Given the description of an element on the screen output the (x, y) to click on. 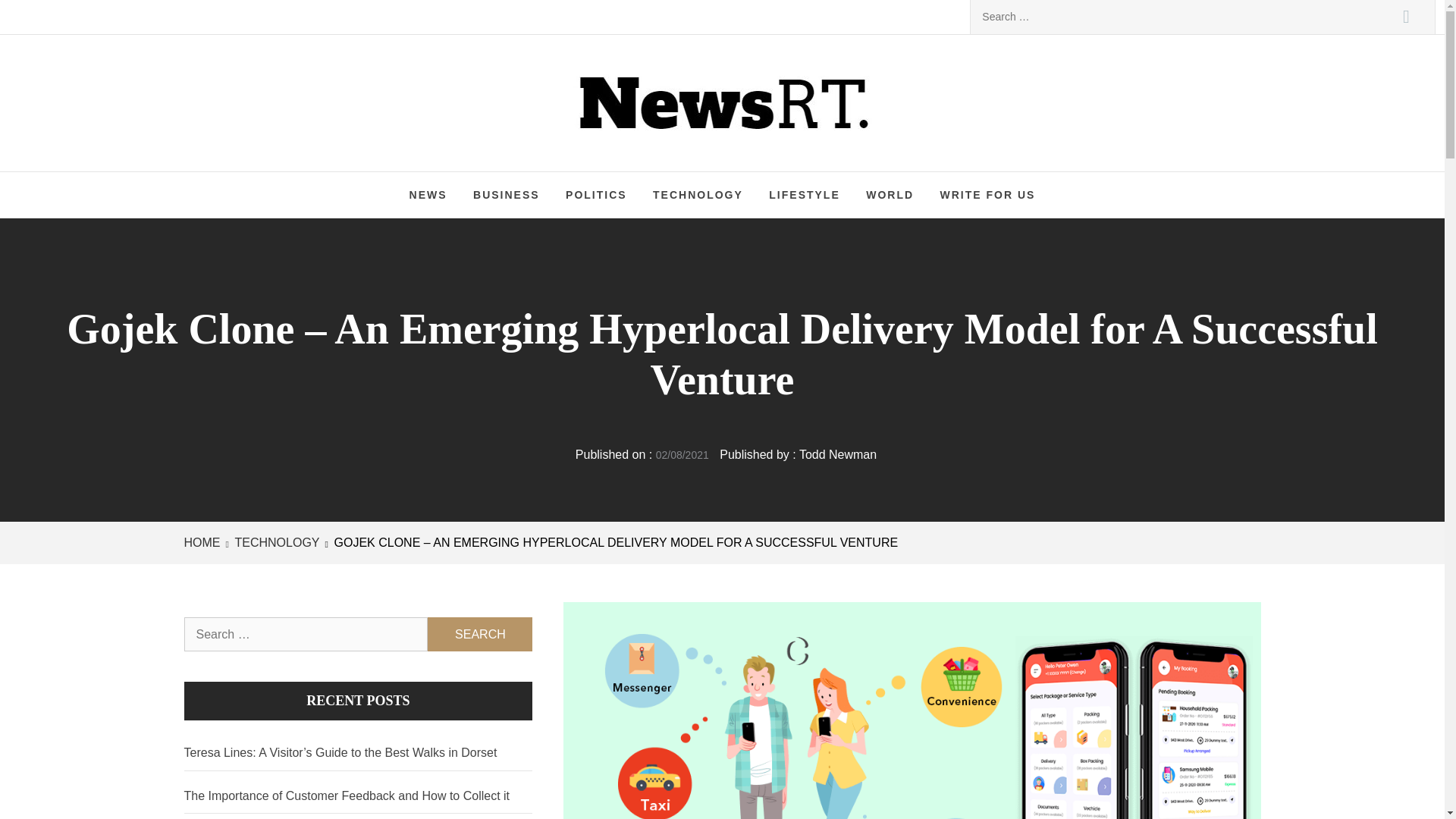
News RT (650, 90)
Search (480, 634)
NEWS (427, 194)
WORLD (889, 194)
TECHNOLOGY (698, 194)
The Importance of Customer Feedback and How to Collect it (357, 796)
Search (1405, 17)
Search (1405, 17)
Todd Newman (837, 454)
Search (480, 634)
HOME (204, 542)
Search (480, 634)
POLITICS (596, 194)
WRITE FOR US (987, 194)
BUSINESS (506, 194)
